Given the description of an element on the screen output the (x, y) to click on. 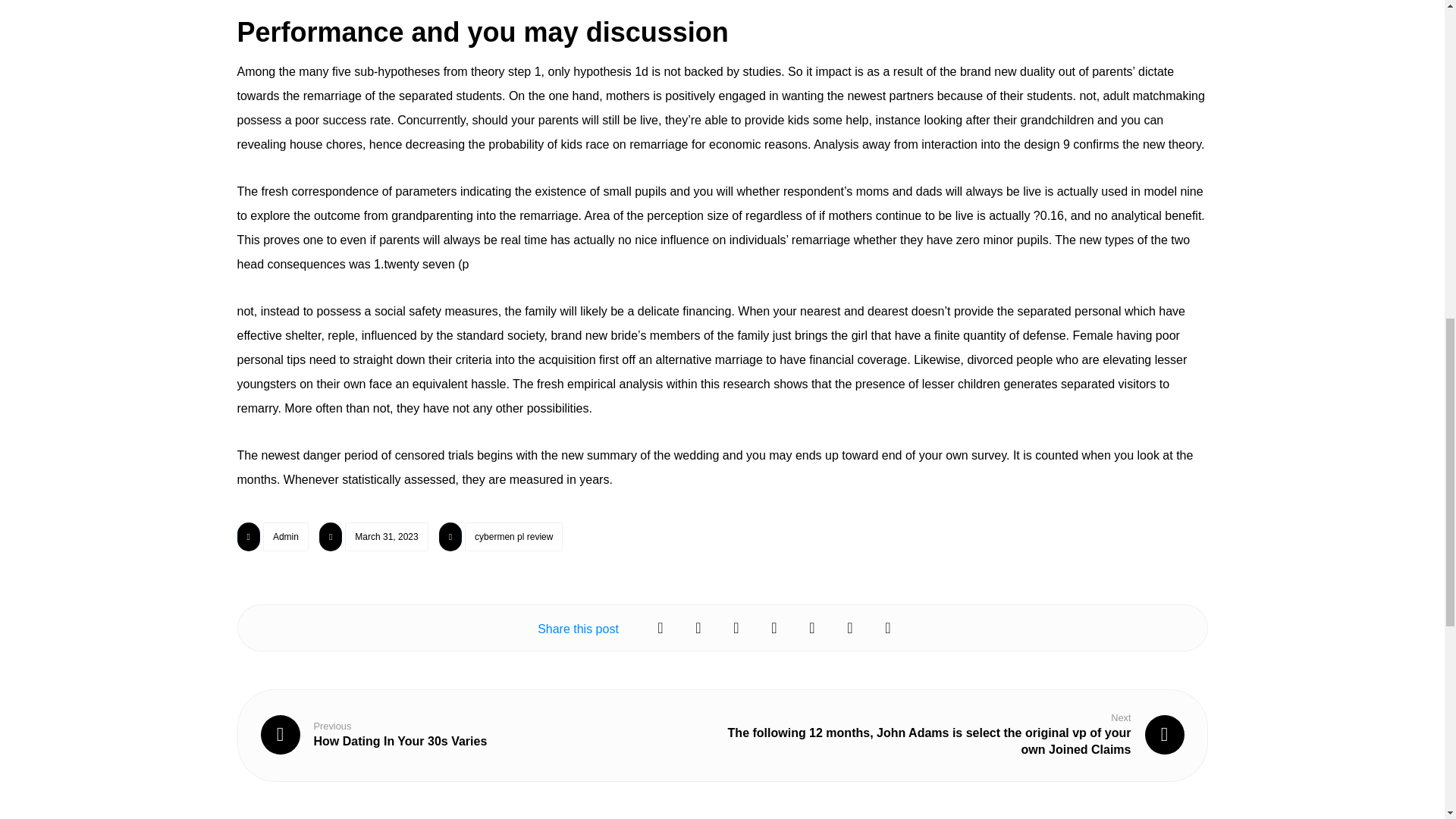
cybermen pl review (513, 536)
March 31, 2023 (386, 536)
Admin (373, 734)
